Given the description of an element on the screen output the (x, y) to click on. 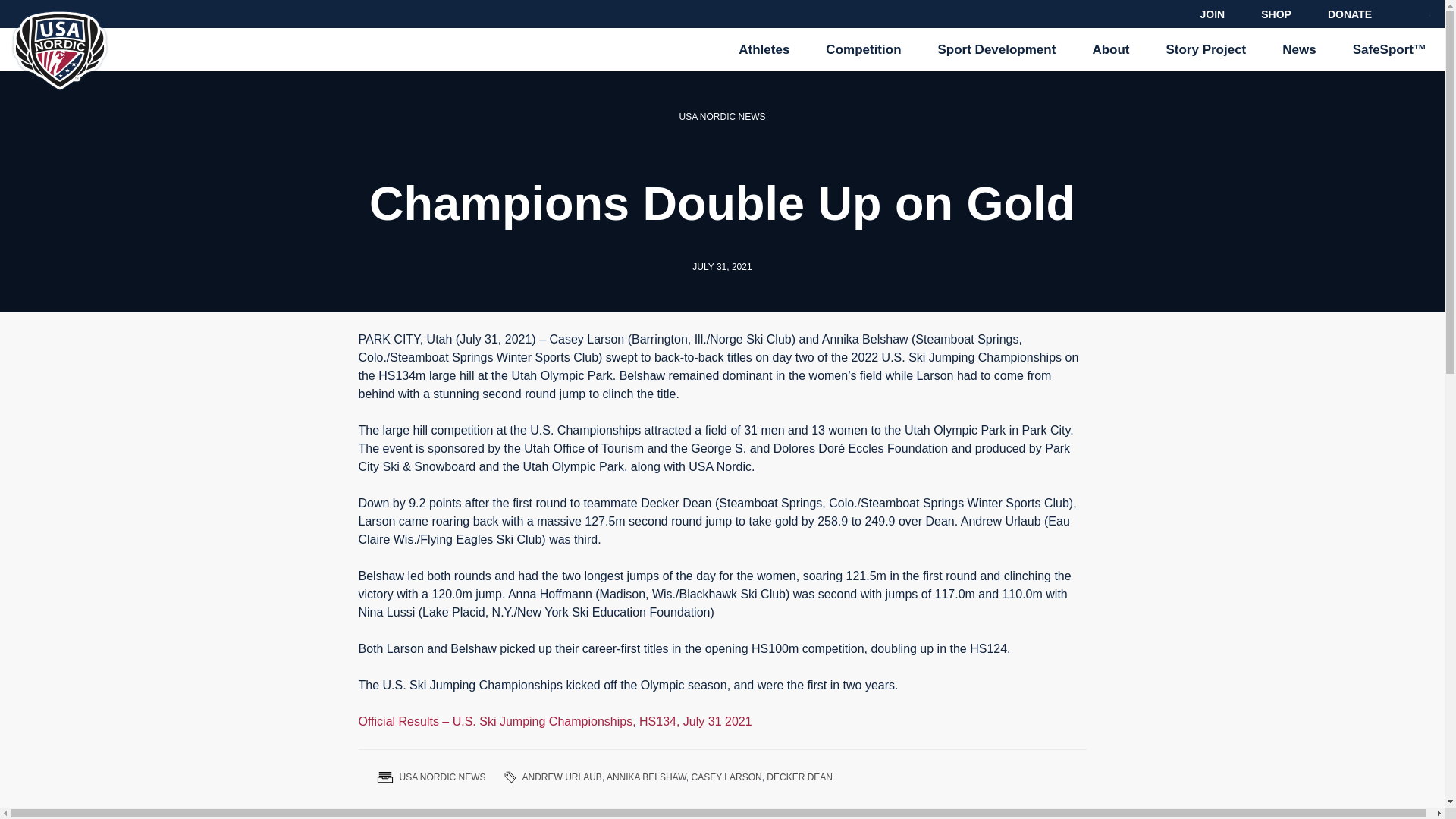
Story Project (1205, 49)
SHOP (1275, 13)
Athletes (764, 49)
Sport Development (997, 49)
News (1298, 49)
USA NORDIC NEWS (441, 777)
USA Nordic Sport (55, 91)
Competition (863, 49)
DONATE (1349, 13)
About (1110, 49)
JOIN (1212, 13)
USA NORDIC NEWS (721, 116)
